Given the description of an element on the screen output the (x, y) to click on. 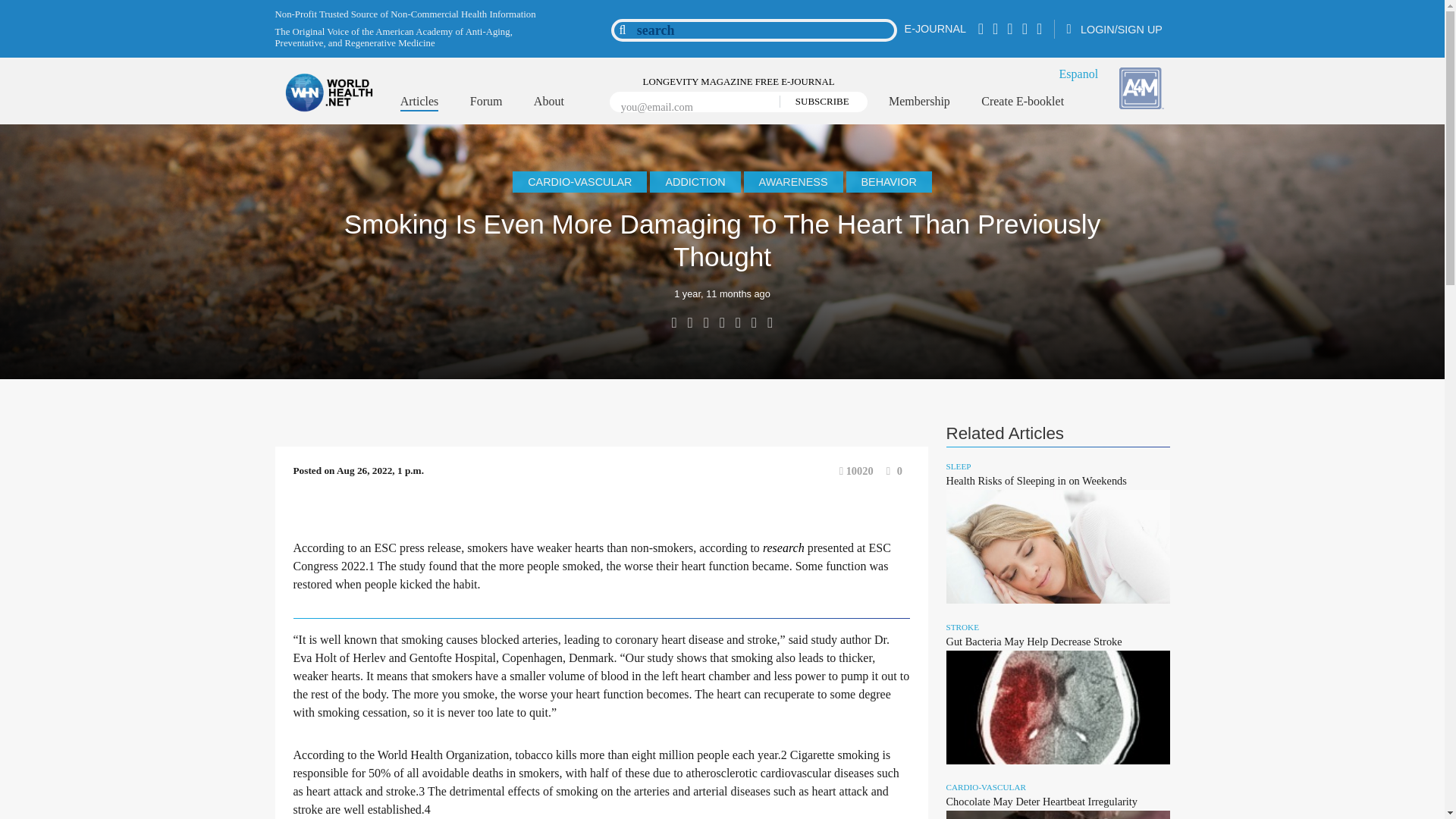
Articles (419, 103)
Membership (919, 102)
Create E-booklet (1022, 102)
Espanol (1079, 73)
Forum (486, 102)
subscribe (817, 101)
subscribe (817, 101)
E-JOURNAL (935, 28)
About (549, 102)
